Given the description of an element on the screen output the (x, y) to click on. 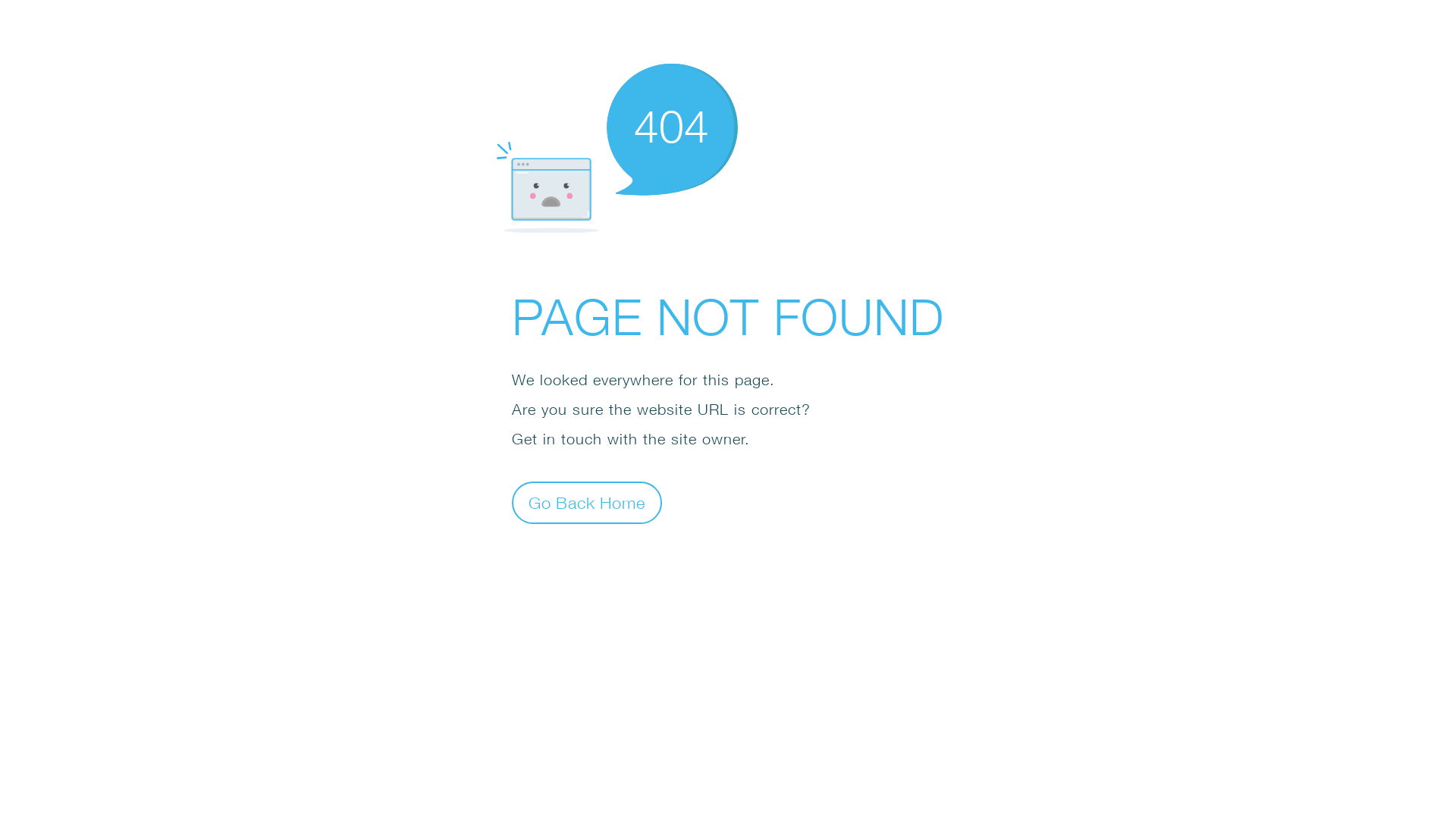
Go Back Home Element type: text (586, 502)
